Given the description of an element on the screen output the (x, y) to click on. 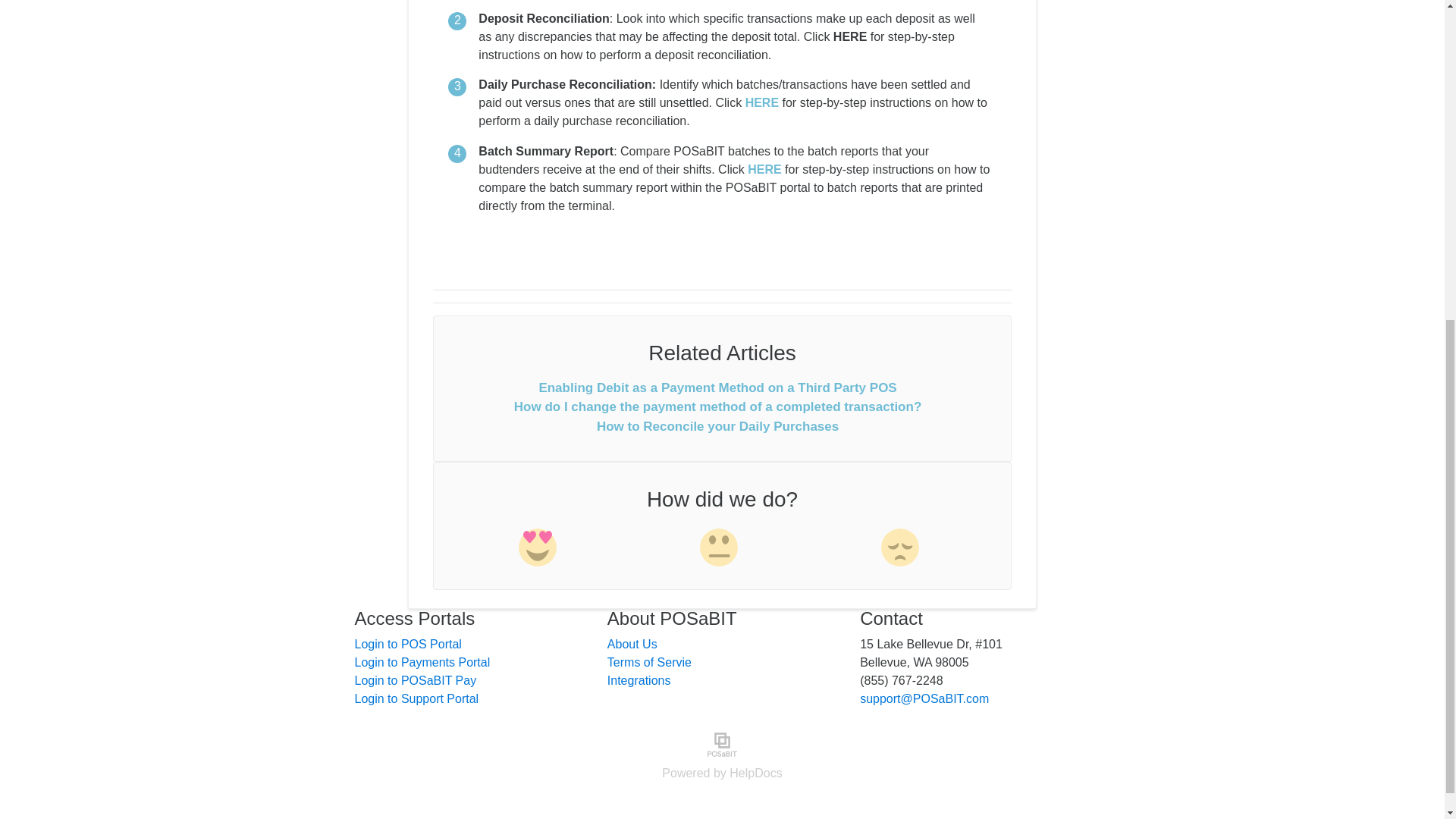
Integrations (639, 680)
Terms of Servie (649, 662)
Powered by HelpDocs (721, 772)
Login to Support Portal (417, 698)
About Us (632, 644)
Login to POS Portal (408, 644)
HERE (761, 102)
HERE (849, 36)
Login to Payments Portal (422, 662)
